Given the description of an element on the screen output the (x, y) to click on. 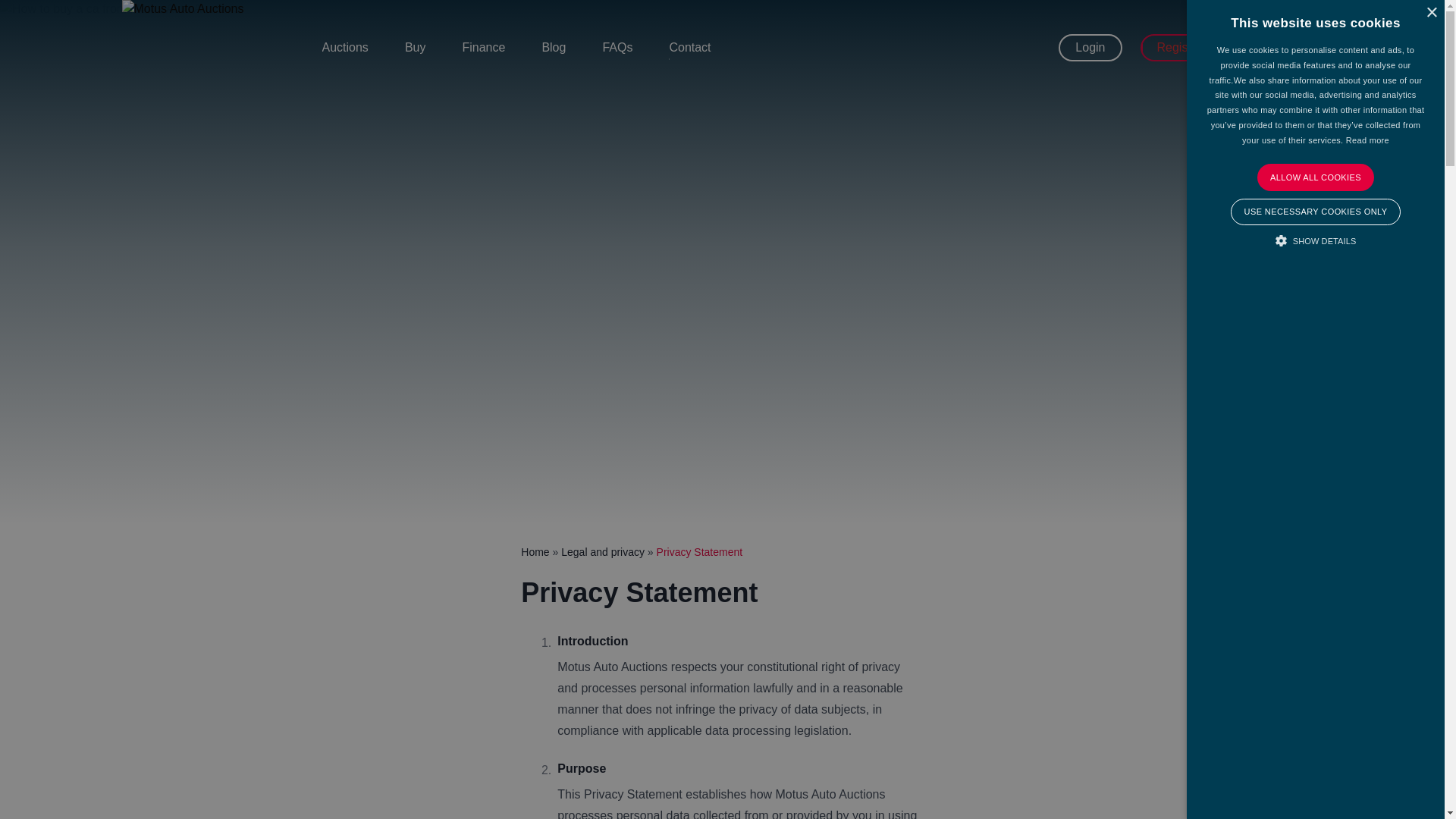
FAQs (616, 47)
Contact (689, 47)
Legal and privacy (602, 551)
Login (1089, 47)
Register (1180, 47)
Home (534, 551)
Auctions (344, 47)
Finance (483, 47)
Blog (553, 47)
Privacy Statement (699, 551)
